Given the description of an element on the screen output the (x, y) to click on. 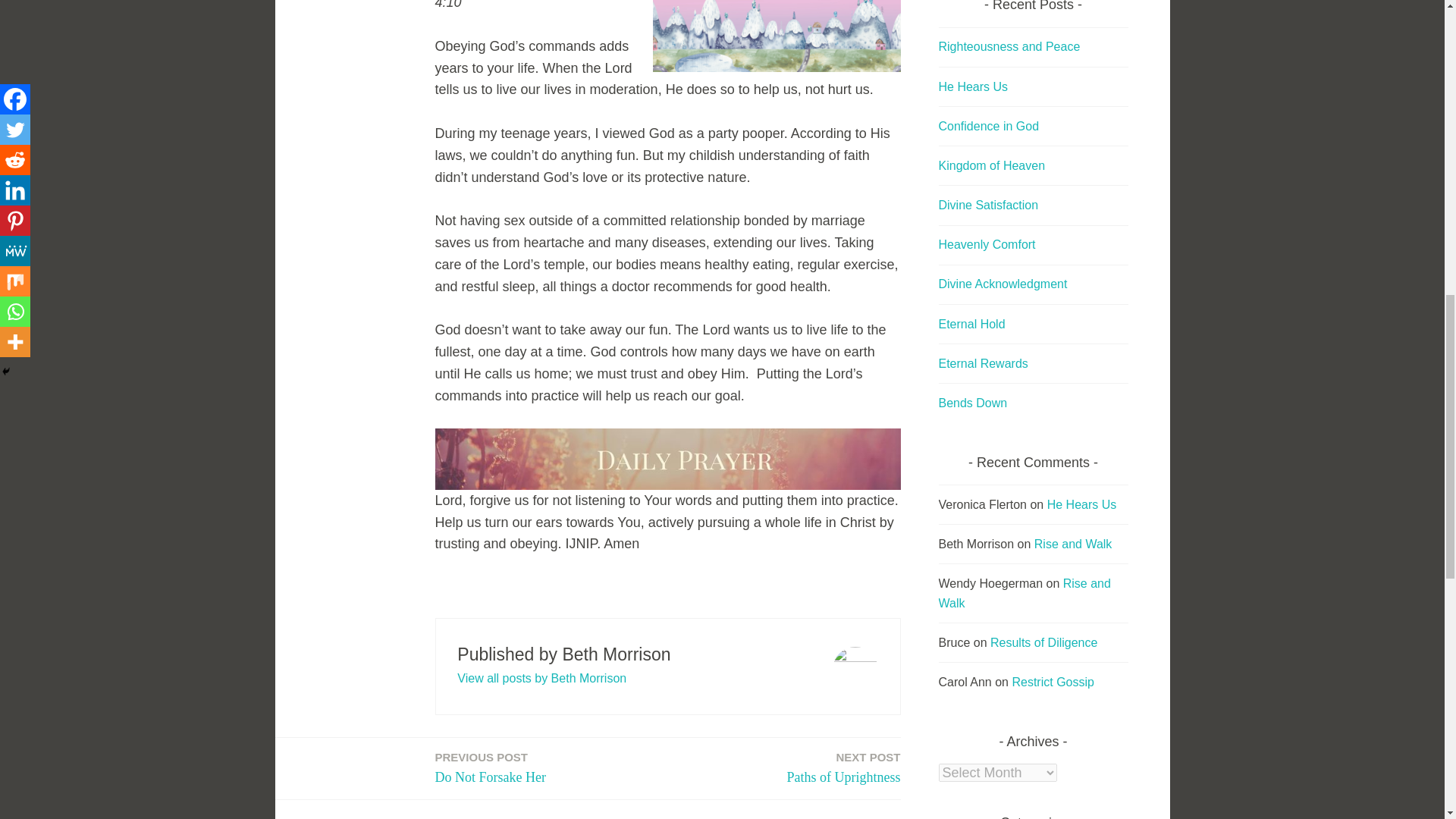
View all posts by Beth Morrison (490, 768)
